Given the description of an element on the screen output the (x, y) to click on. 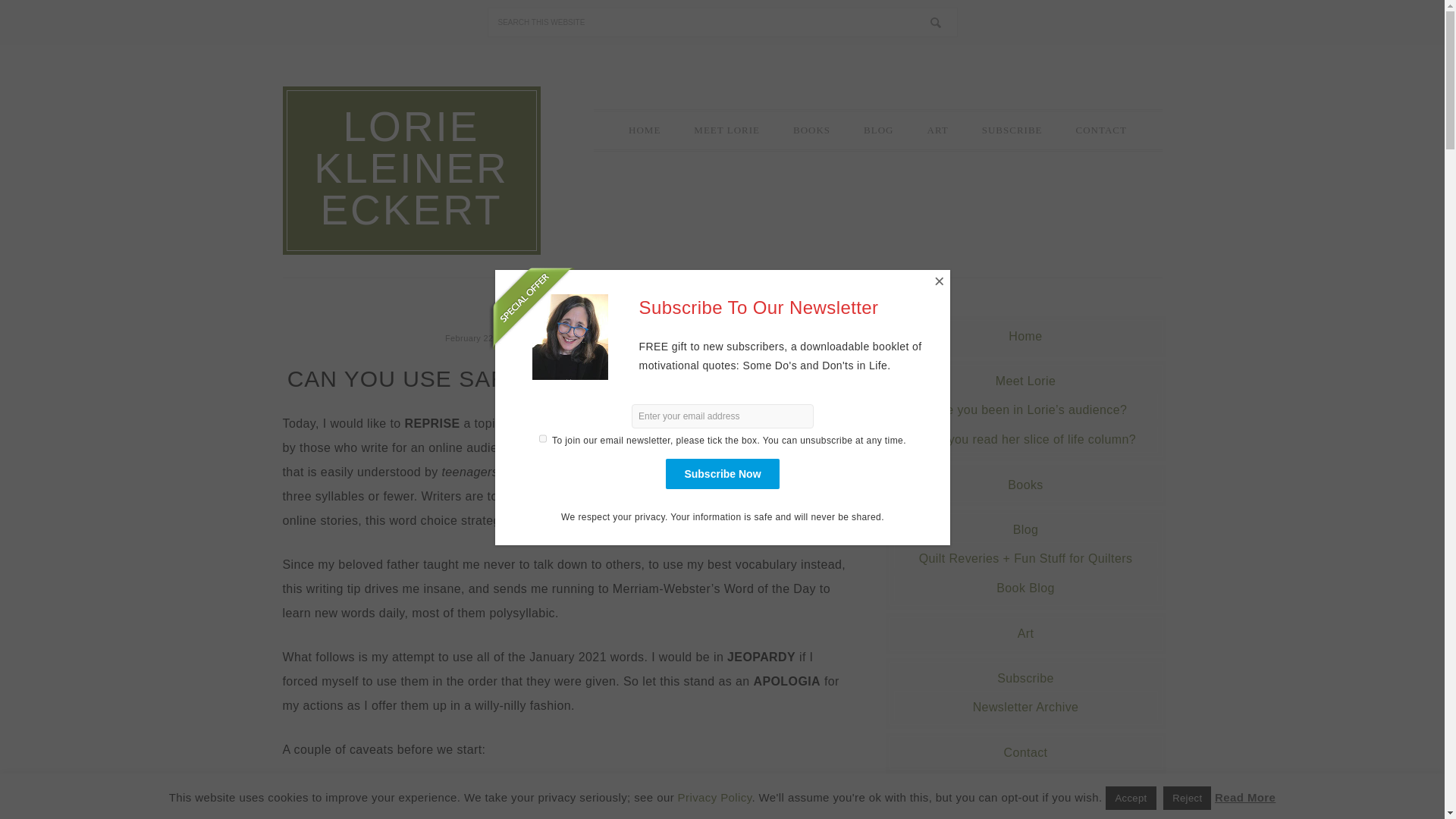
SUBSCRIBE (1012, 130)
Subscribe Now (721, 472)
Lorie Kleiner Eckert (573, 338)
I have written about (564, 422)
BOOKS (811, 130)
MEET LORIE (726, 130)
BLOG (878, 130)
CONTACT (1100, 130)
4 COMMENTS (651, 337)
ART (936, 130)
HOME (644, 130)
LORIE KLEINER ECKERT (410, 168)
